Given the description of an element on the screen output the (x, y) to click on. 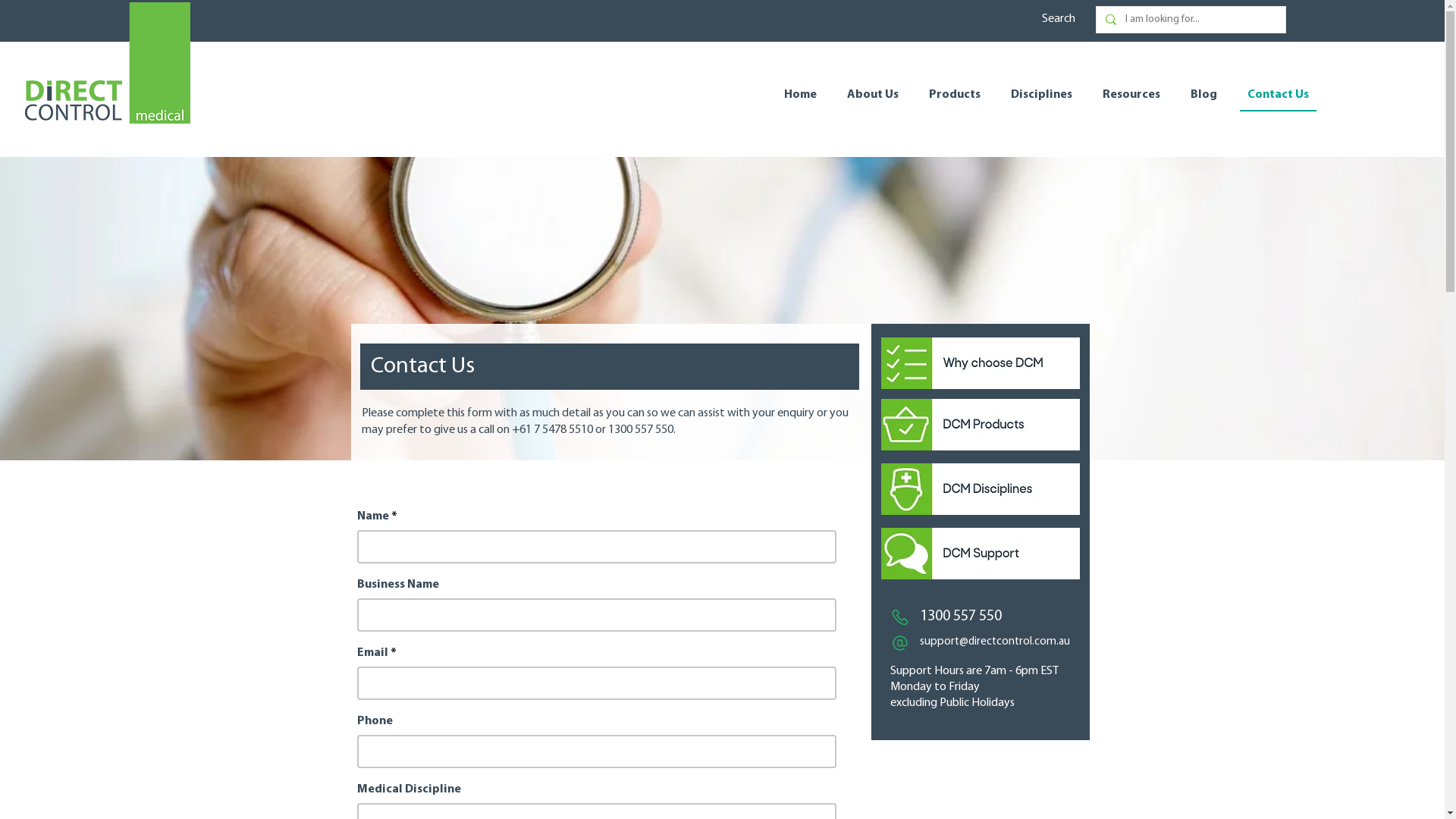
About Us Element type: text (872, 98)
Contact Us Element type: text (1277, 95)
Home Element type: text (800, 98)
Blog Element type: text (1203, 98)
Email Direct Control  Element type: hover (900, 642)
Products Element type: text (954, 98)
Disciplines Element type: text (1041, 98)
Call Direct Control  Element type: hover (900, 617)
support@directcontrol.com.au Element type: text (994, 641)
Resources Element type: text (1131, 98)
